Given the description of an element on the screen output the (x, y) to click on. 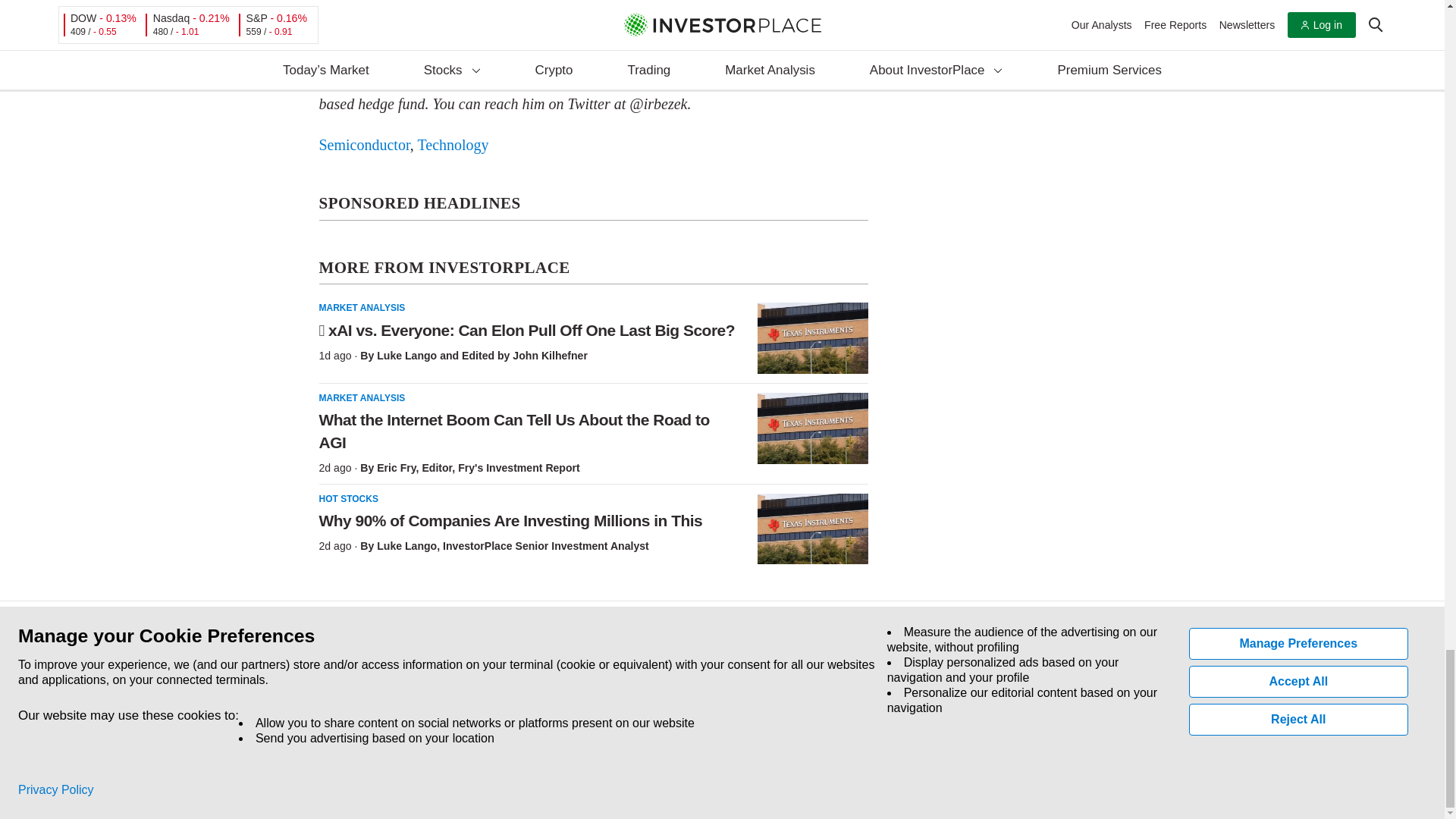
Articles from Semiconductor industry (363, 144)
Subscribe to our RSS feed (389, 710)
View profile of Luke Lango (406, 355)
View profile of Eric Fry (395, 467)
Articles from Technology industry (451, 144)
Visit our Facebook Page (319, 710)
View profile of Edited by John Kilhefner (524, 355)
Visit our Twitter page (354, 710)
What the Internet Boom Can Tell Us About the Road to AGI (812, 428)
View profile of Luke Lango (406, 545)
